Given the description of an element on the screen output the (x, y) to click on. 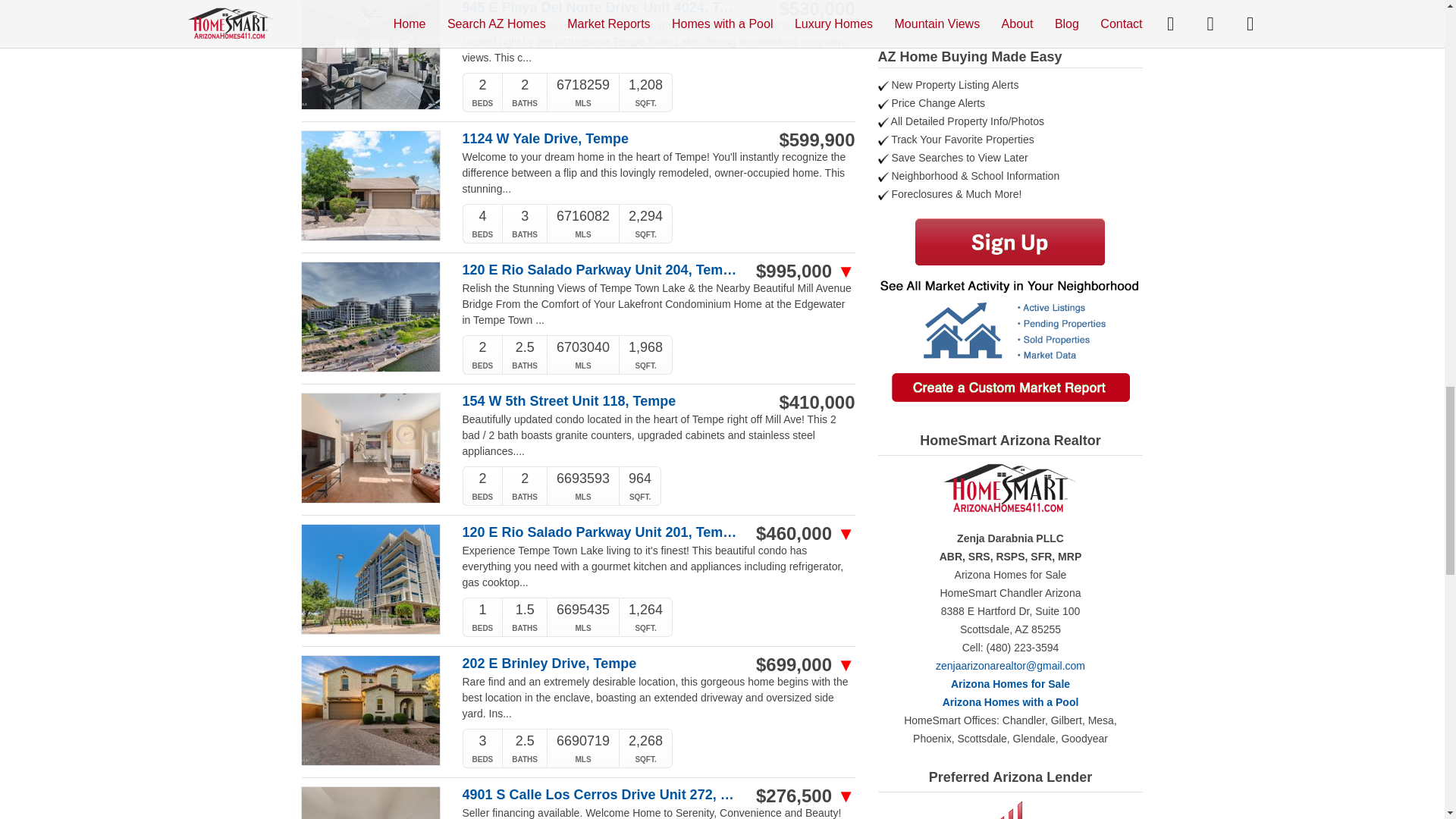
Landmark Capital Mortgage - James Mathiasch (1009, 809)
Arizona Real Estate Market Report (1009, 340)
Sign up for Arizona Homes Property Alerts (1009, 242)
Email Zenja HomeSmart Chandler Realtor (1010, 665)
Arizona Homes with a Pool (1010, 702)
HomeSmart Arizona Homes for Sale Chandler Gilbert Mesa (1010, 684)
